Given the description of an element on the screen output the (x, y) to click on. 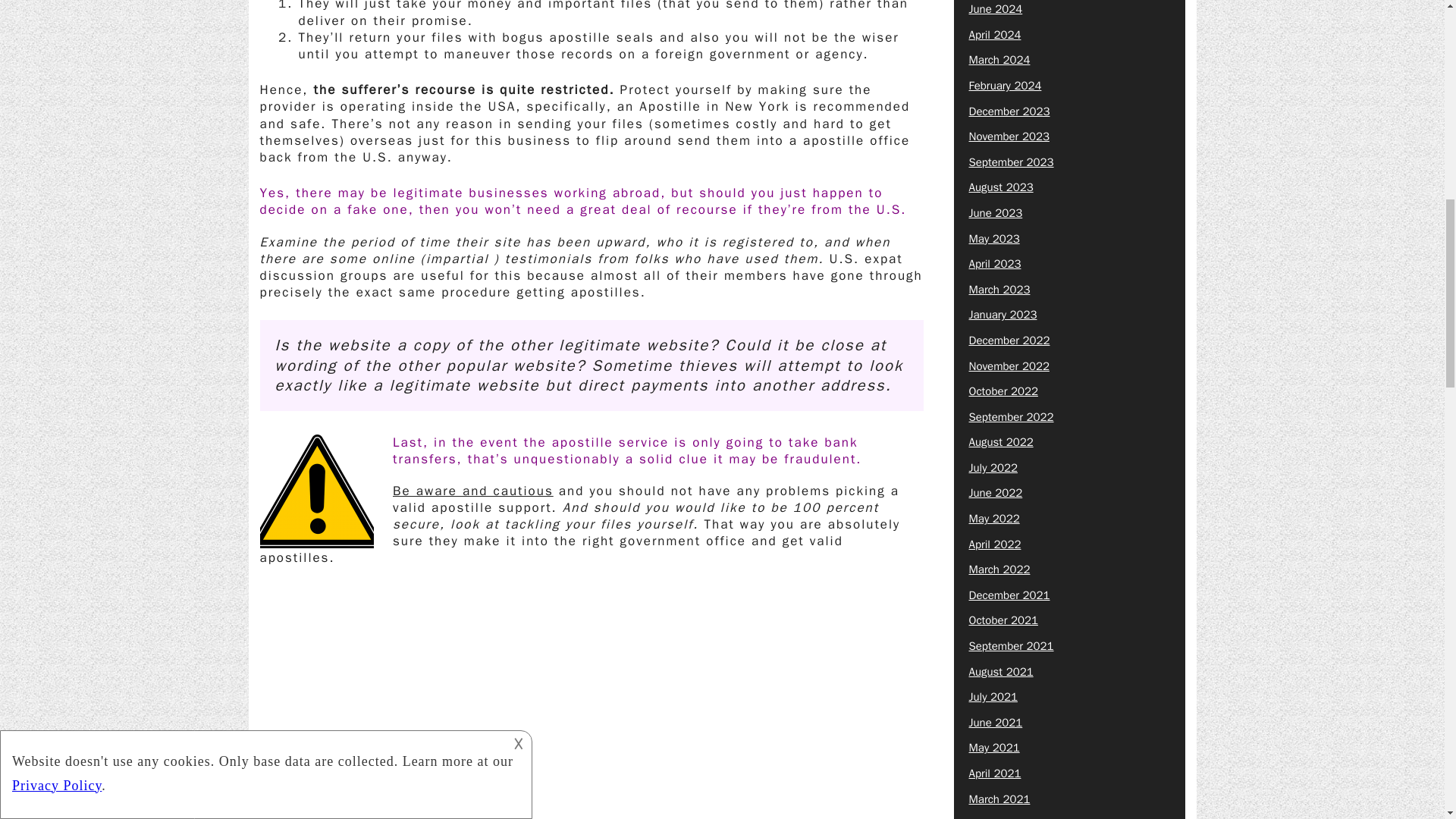
June 2024 (996, 8)
February 2024 (1005, 85)
April 2024 (995, 34)
March 2024 (999, 59)
